Given the description of an element on the screen output the (x, y) to click on. 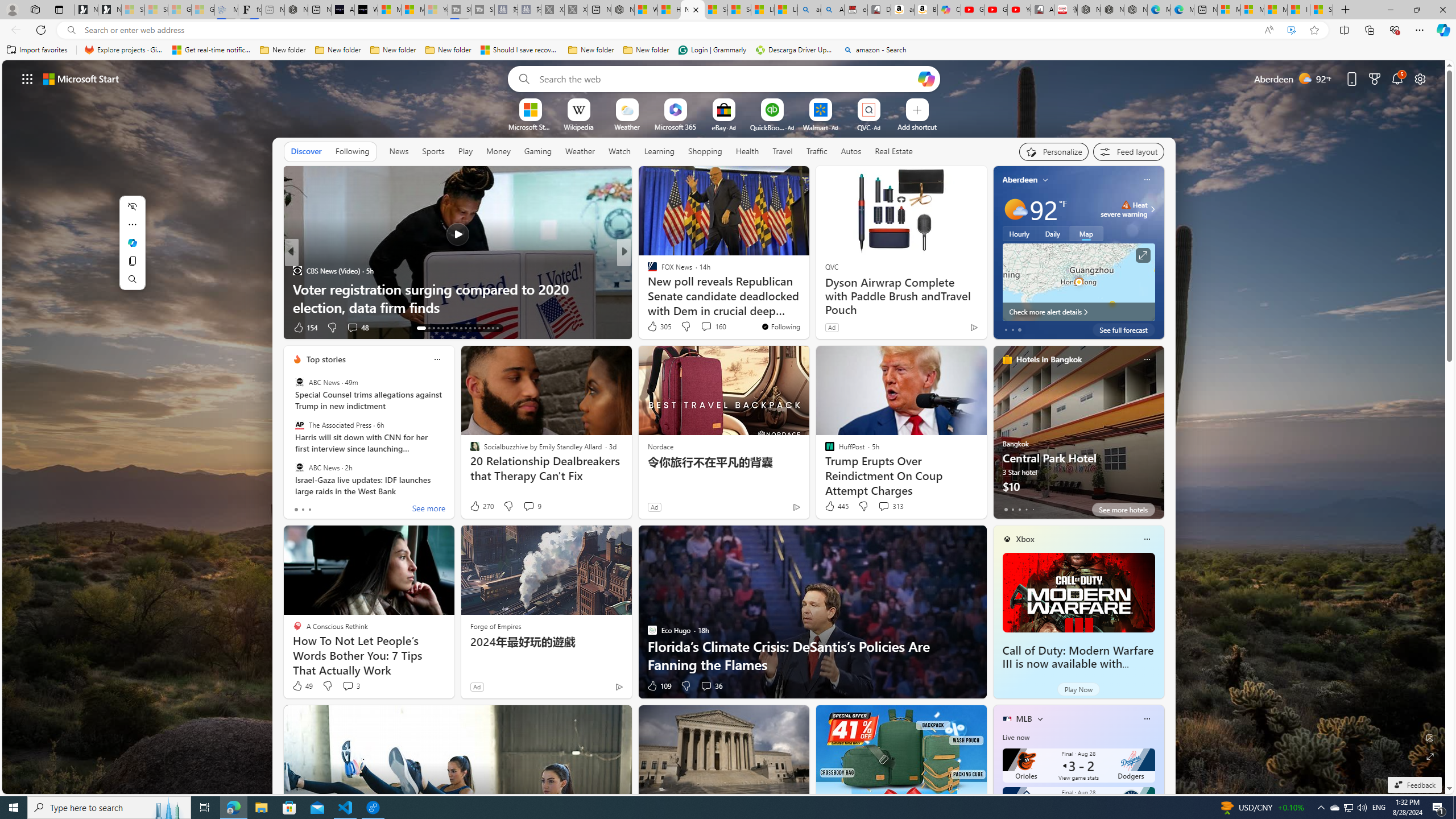
Nordace - #1 Japanese Best-Seller - Siena Smart Backpack (296, 9)
Feed settings (1128, 151)
Browser essentials (1394, 29)
Dislike (685, 685)
More options (1146, 718)
View comments 160 Comment (705, 326)
AutomationID: tab-17 (442, 328)
Search (520, 78)
Close (1442, 9)
PsychLove (647, 270)
98 Like (652, 327)
tab-2 (1019, 509)
More interests (1039, 718)
